Given the description of an element on the screen output the (x, y) to click on. 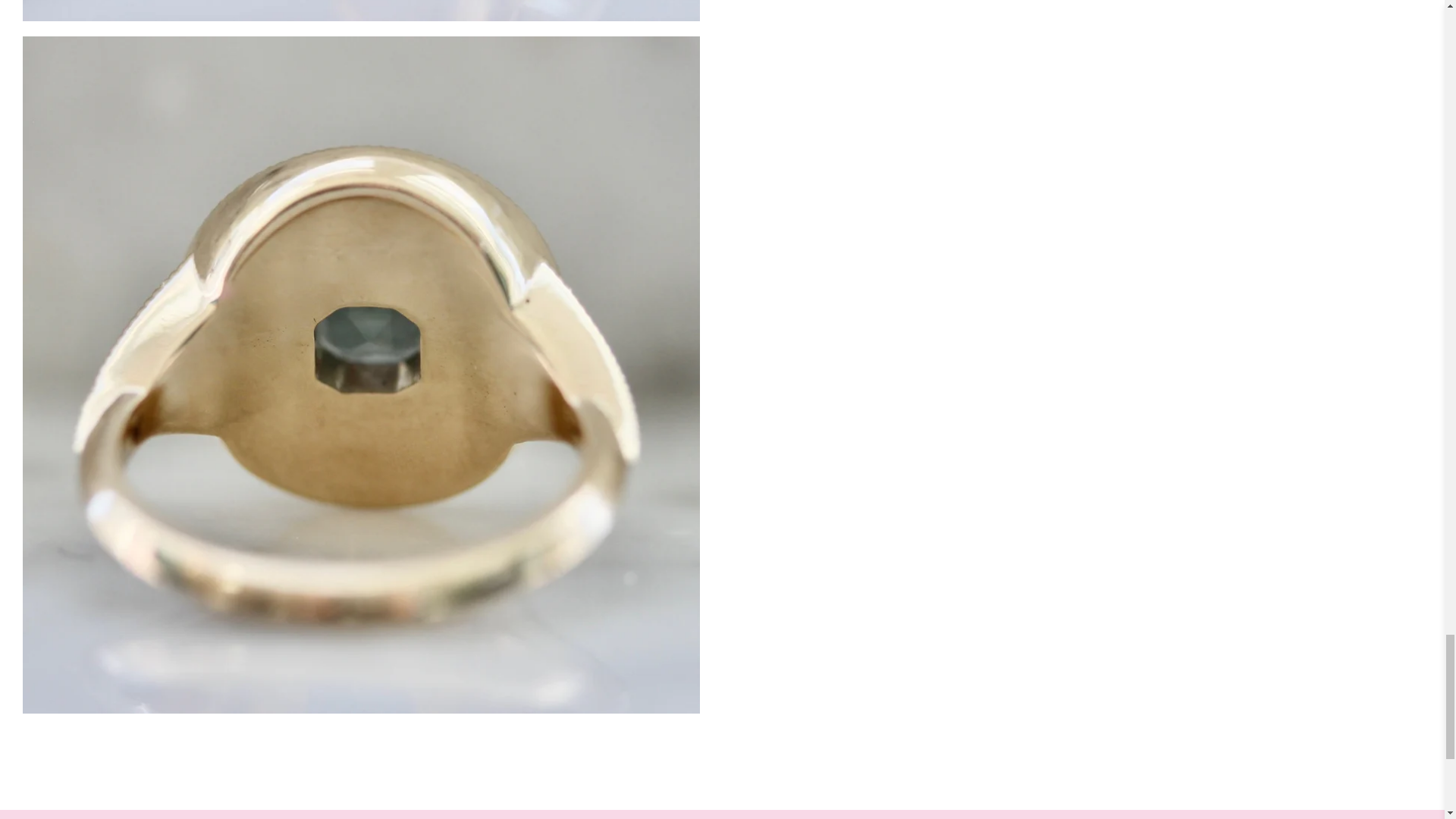
Big Sky Teal Asscher Cut Montana Sapphire Ring (361, 11)
